Given the description of an element on the screen output the (x, y) to click on. 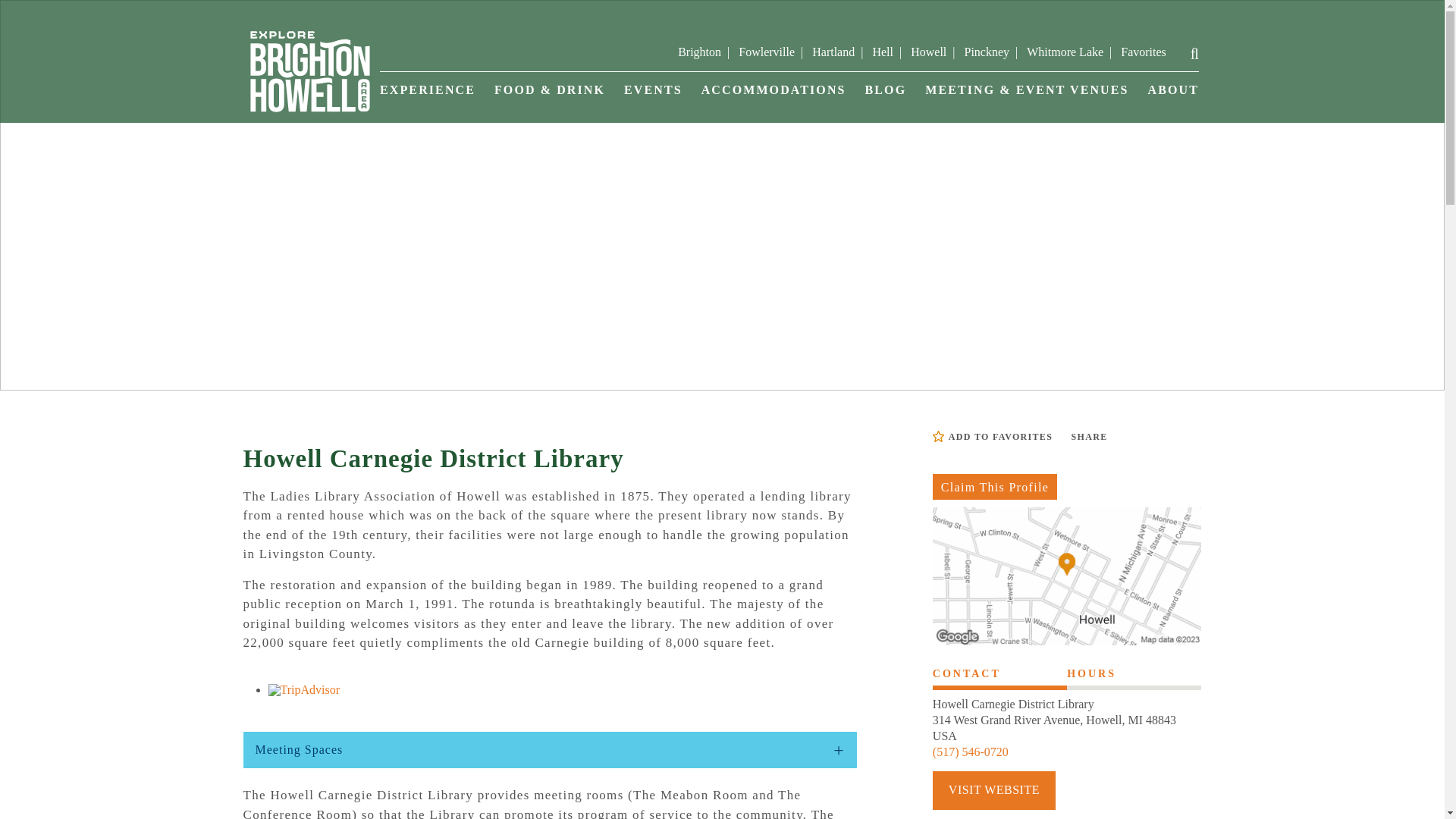
Brighton (699, 51)
Explore Brighton Howell Area - Home (310, 69)
EXPERIENCE (428, 99)
Hartland (833, 51)
Hell (882, 51)
ABOUT (1173, 99)
ACCOMMODATIONS (773, 99)
Submit (1206, 53)
Favorites (1143, 51)
Fowlerville (766, 51)
